Given the description of an element on the screen output the (x, y) to click on. 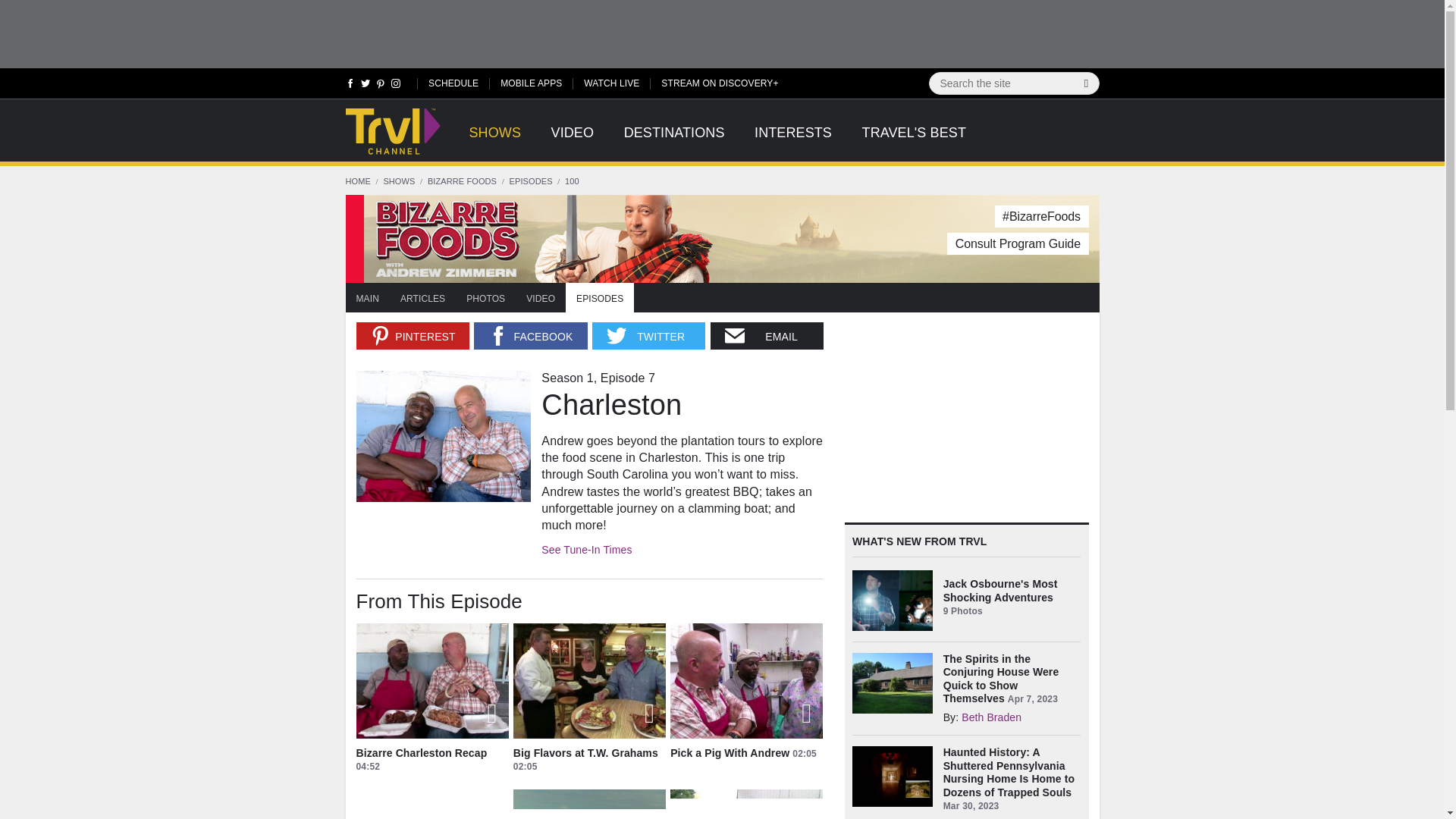
Follow us on Instagram (394, 86)
Share by Email (767, 335)
Share on Pinterest (412, 335)
MOBILE APPS (531, 81)
Follow us on Pinterest (380, 86)
WATCH LIVE (611, 81)
Follow us on Facebook (350, 86)
Share on Twitter (648, 335)
SHOWS (494, 140)
Follow us on Twitter (365, 86)
